Given the description of an element on the screen output the (x, y) to click on. 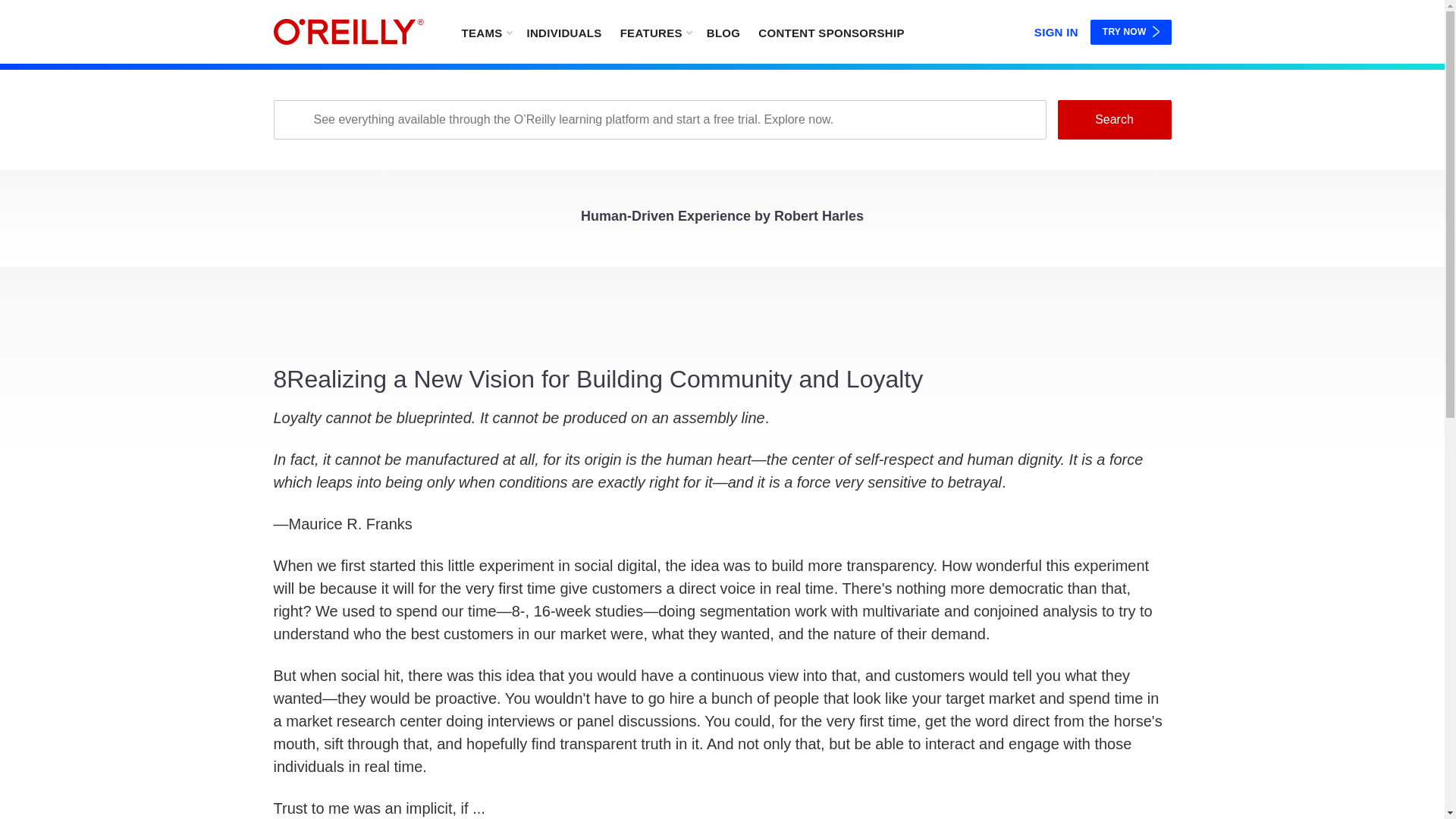
FEATURES (655, 31)
Search (1113, 119)
SIGN IN (1055, 29)
Human-Driven Experience by Robert Harles (721, 219)
Search (1113, 119)
TRY NOW (1131, 32)
TEAMS (486, 31)
Search (1113, 119)
BLOG (723, 31)
CONTENT SPONSORSHIP (831, 31)
